Given the description of an element on the screen output the (x, y) to click on. 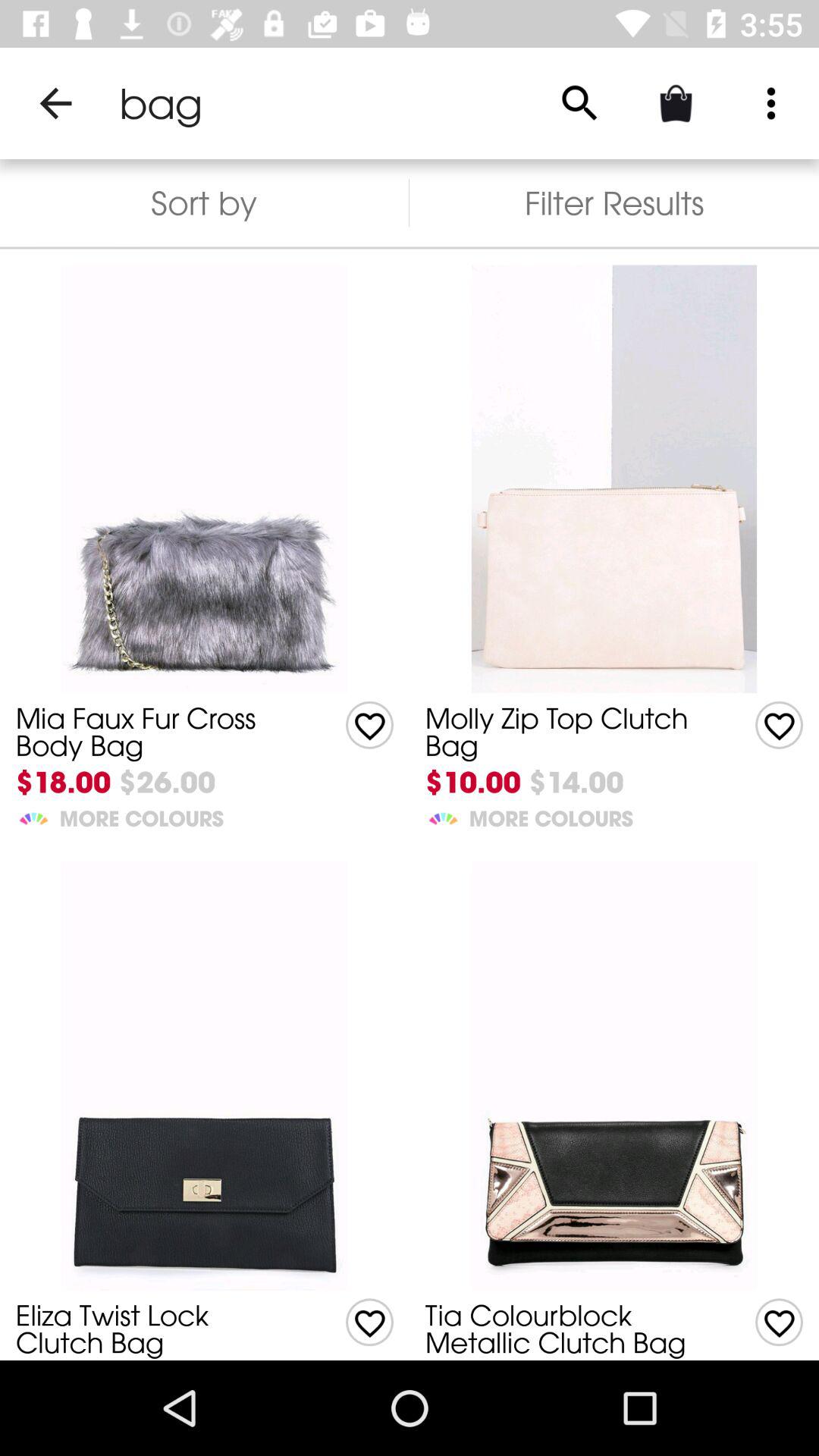
mark as favorite (369, 725)
